Given the description of an element on the screen output the (x, y) to click on. 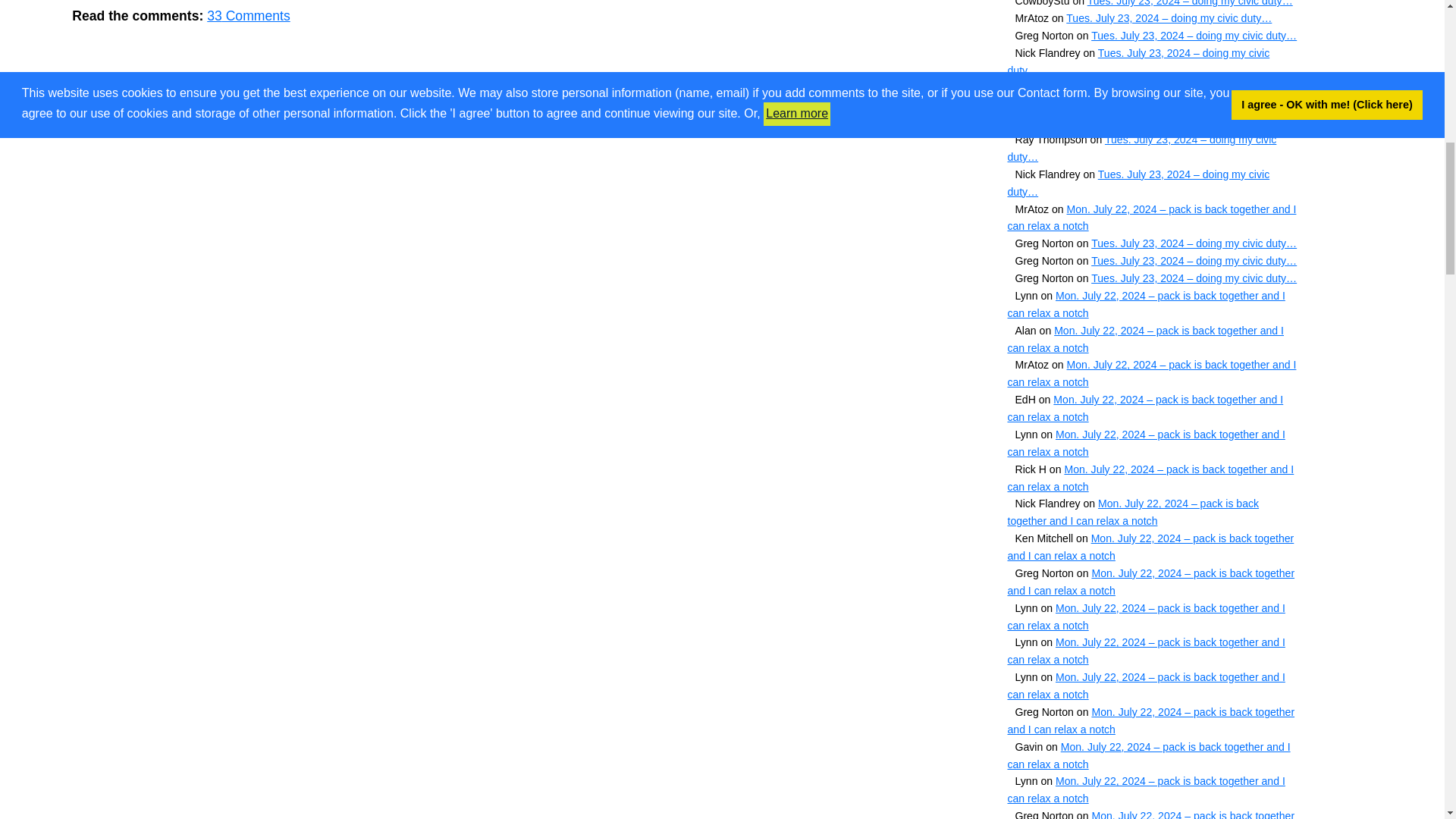
33 Comments (247, 15)
